Given the description of an element on the screen output the (x, y) to click on. 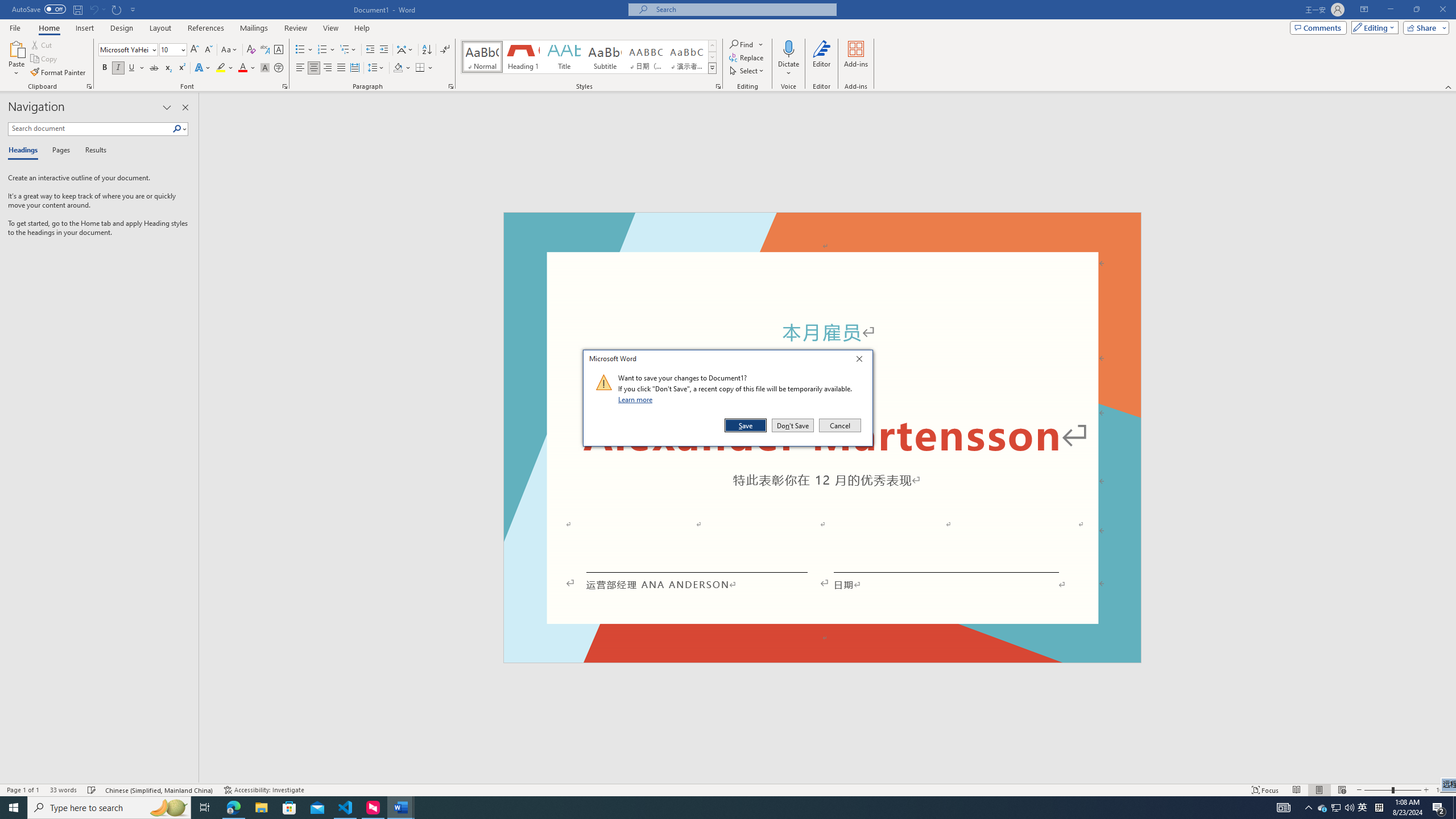
Heading 1 (522, 56)
File Explorer (261, 807)
Zoom 100% (1443, 790)
Text Highlight Color Yellow (220, 67)
Language Chinese (Simplified, Mainland China) (159, 790)
Running applications (700, 807)
Zoom (1392, 790)
Replace... (747, 56)
